Given the description of an element on the screen output the (x, y) to click on. 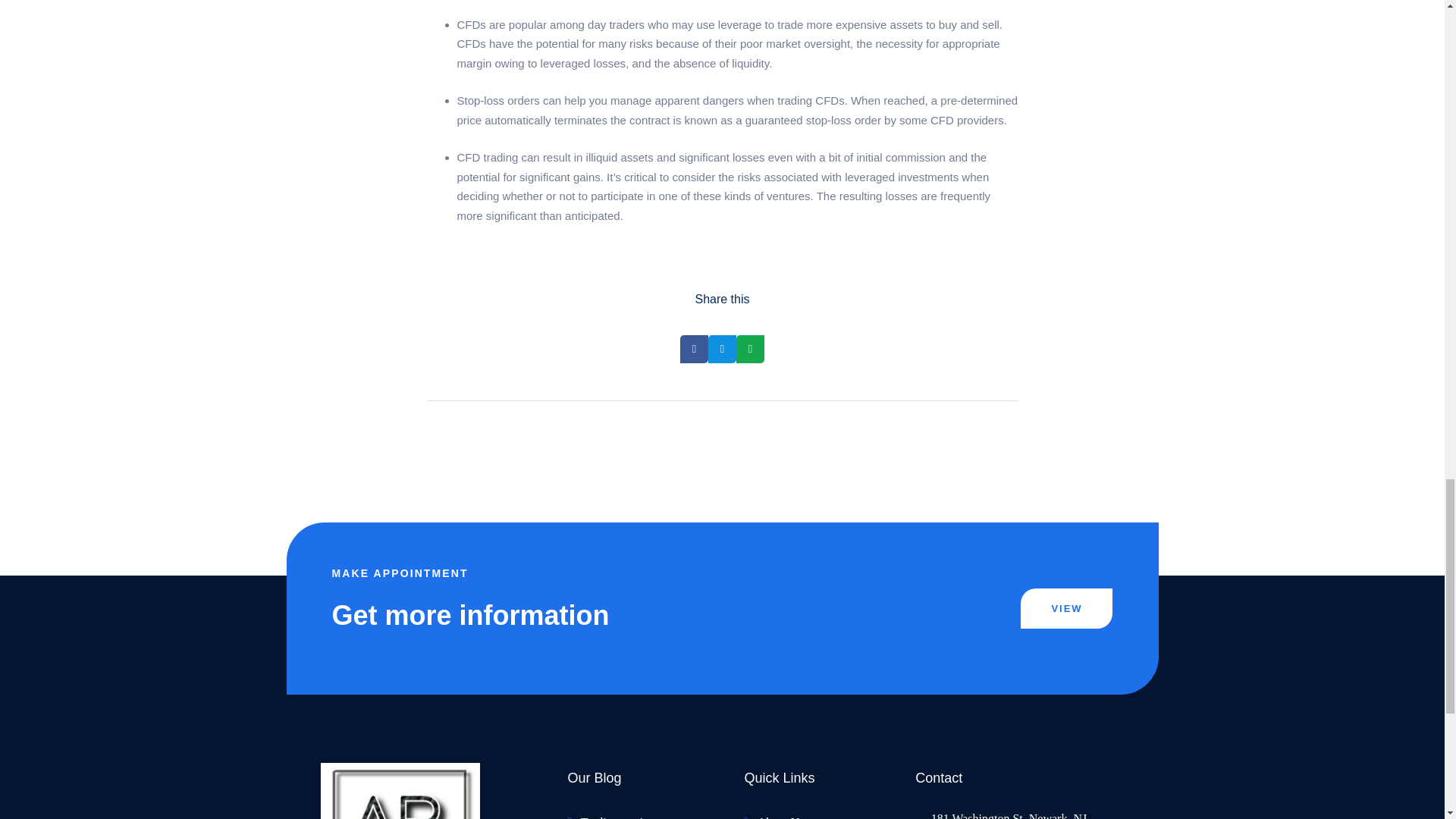
About Us (807, 815)
VIEW (1066, 608)
Trading rewiews (648, 815)
181 Washington St, Newark, NJ 07102, USA (1017, 813)
